Given the description of an element on the screen output the (x, y) to click on. 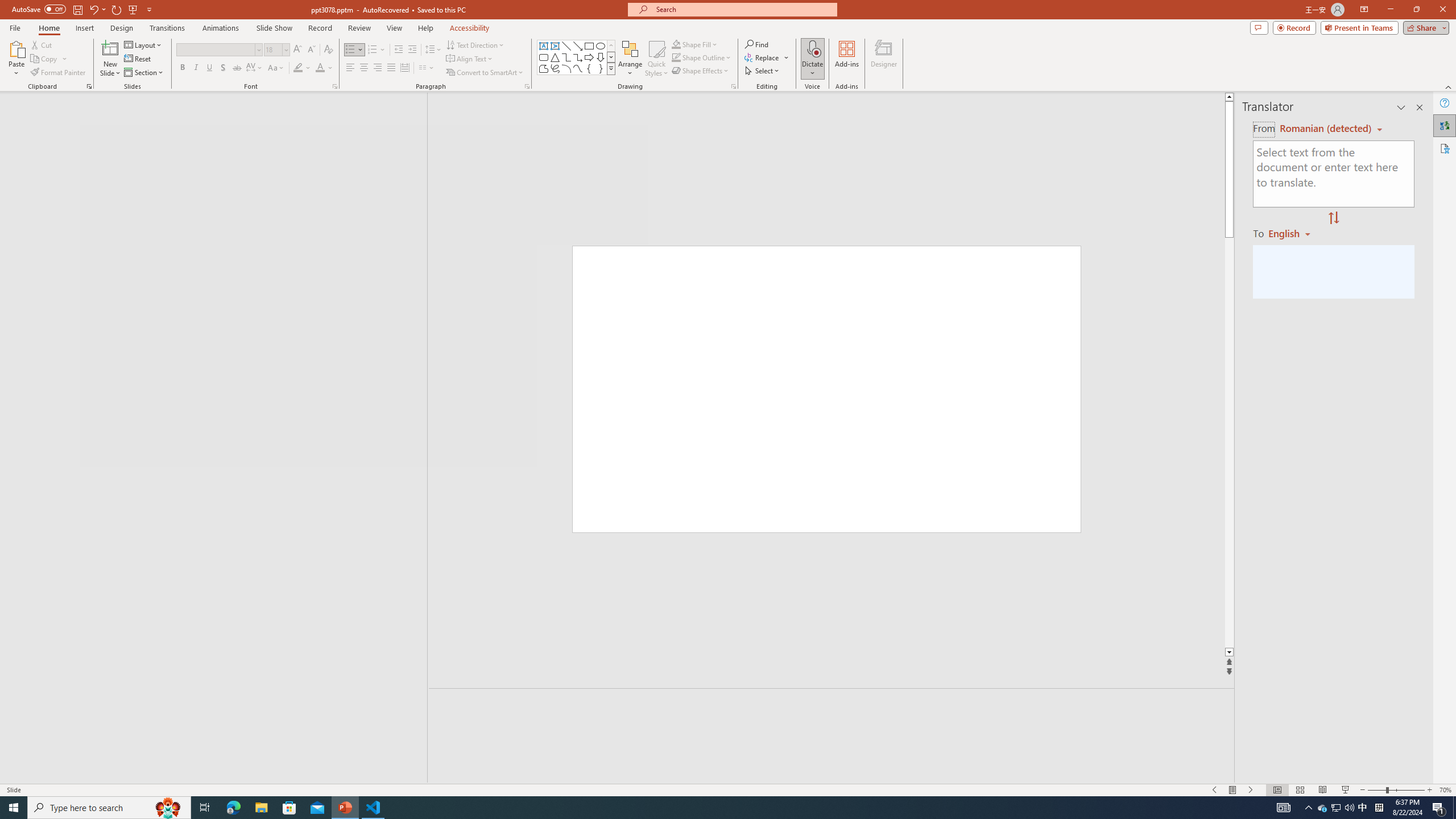
Romanian (detected) (1323, 128)
Romanian (1293, 232)
Slide Show Next On (1250, 790)
Zoom 70% (1445, 790)
